Given the description of an element on the screen output the (x, y) to click on. 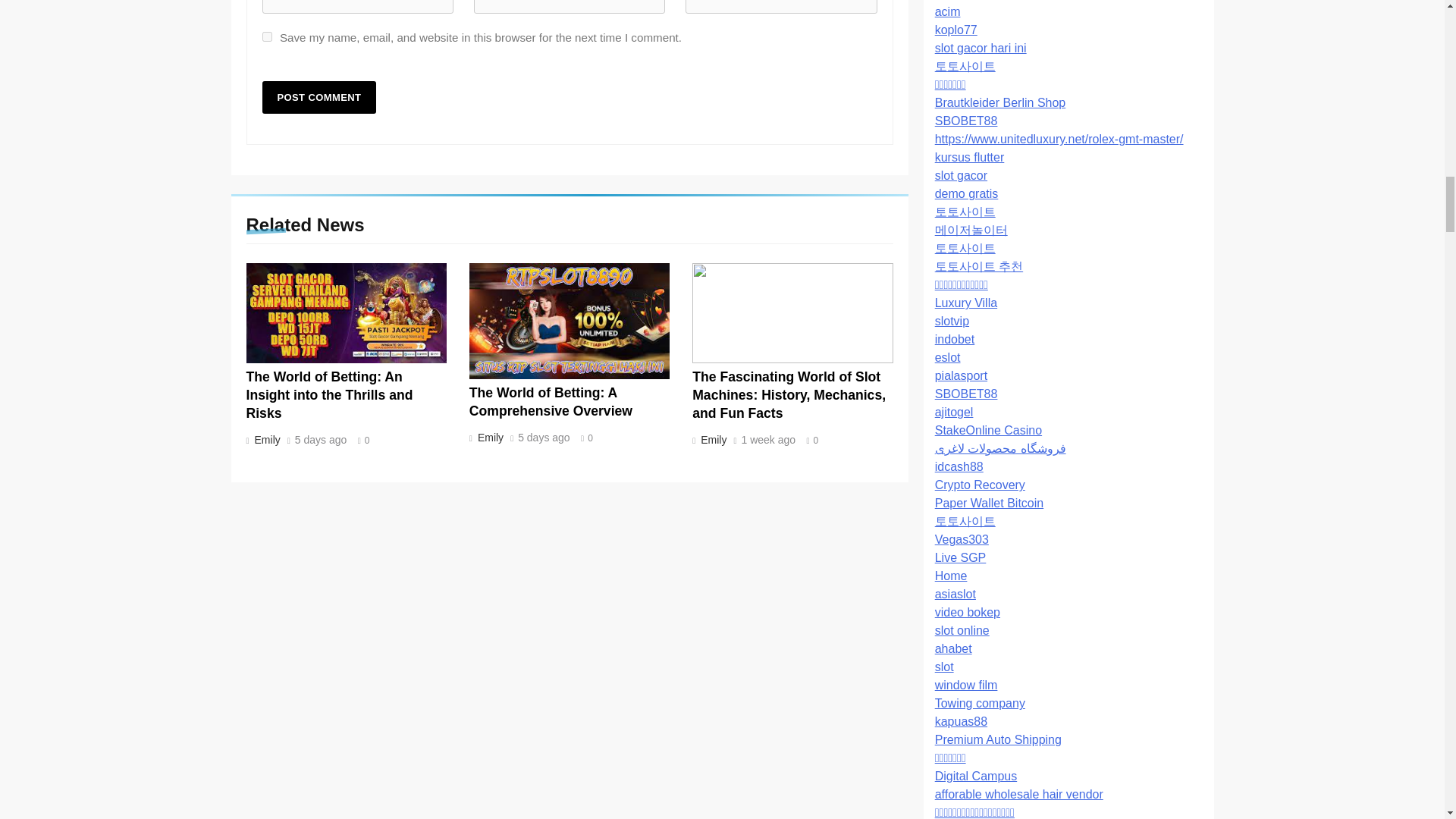
Emily (265, 439)
The World of Betting: An Insight into the Thrills and Risks (329, 394)
The World of Betting: A Comprehensive Overview (549, 401)
1 week ago (768, 439)
Post Comment (319, 97)
5 days ago (321, 439)
5 days ago (544, 438)
Emily (488, 437)
Emily (712, 439)
Post Comment (319, 97)
yes (267, 36)
